Given the description of an element on the screen output the (x, y) to click on. 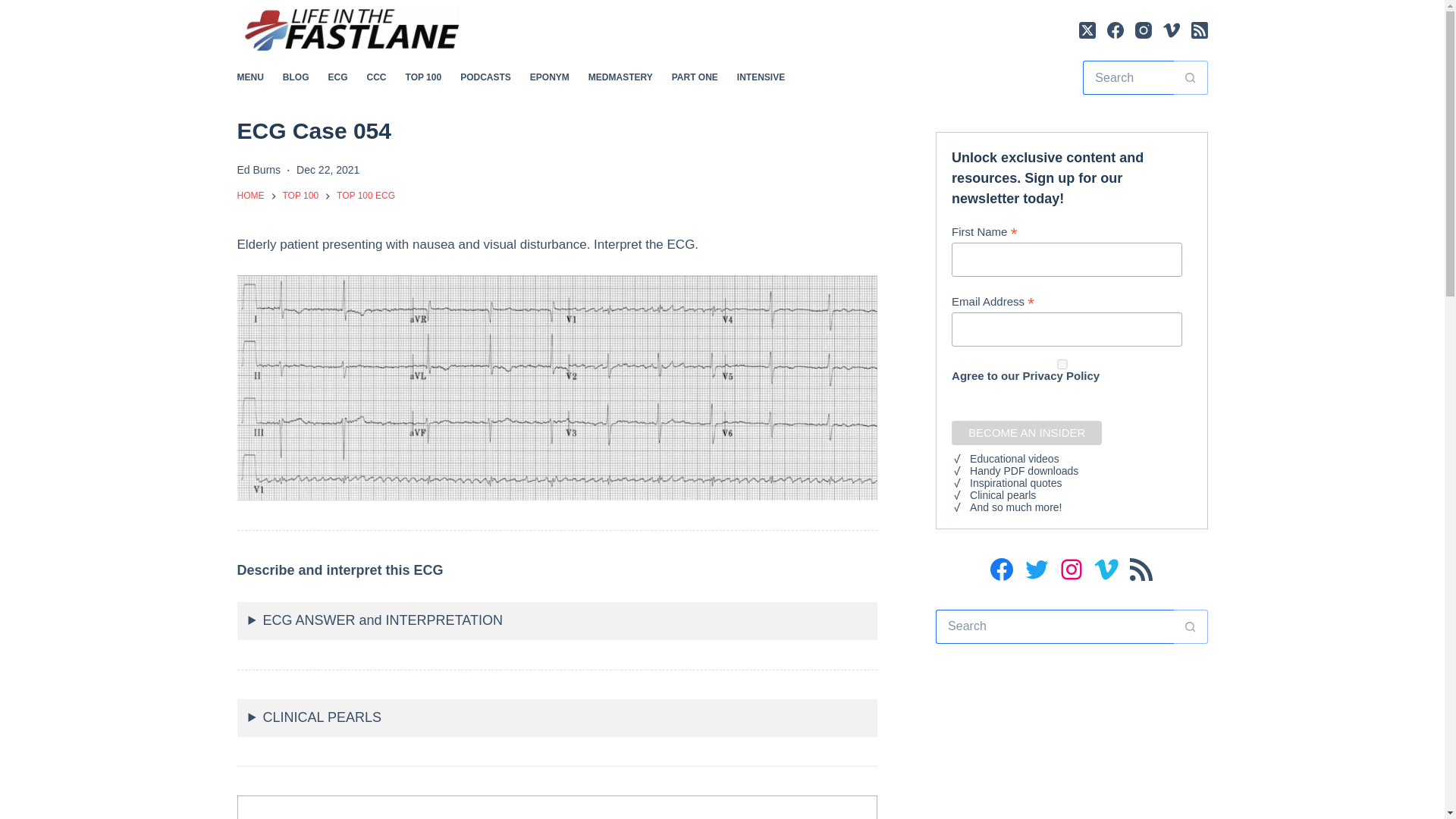
Skip to content (15, 7)
TOP 100 ECG (365, 196)
PODCASTS (486, 77)
Become an insider (1027, 432)
ECG Case 054 (556, 130)
CCC (376, 77)
ECG (337, 77)
HOME (249, 196)
PART ONE (694, 77)
Y (1062, 364)
